Given the description of an element on the screen output the (x, y) to click on. 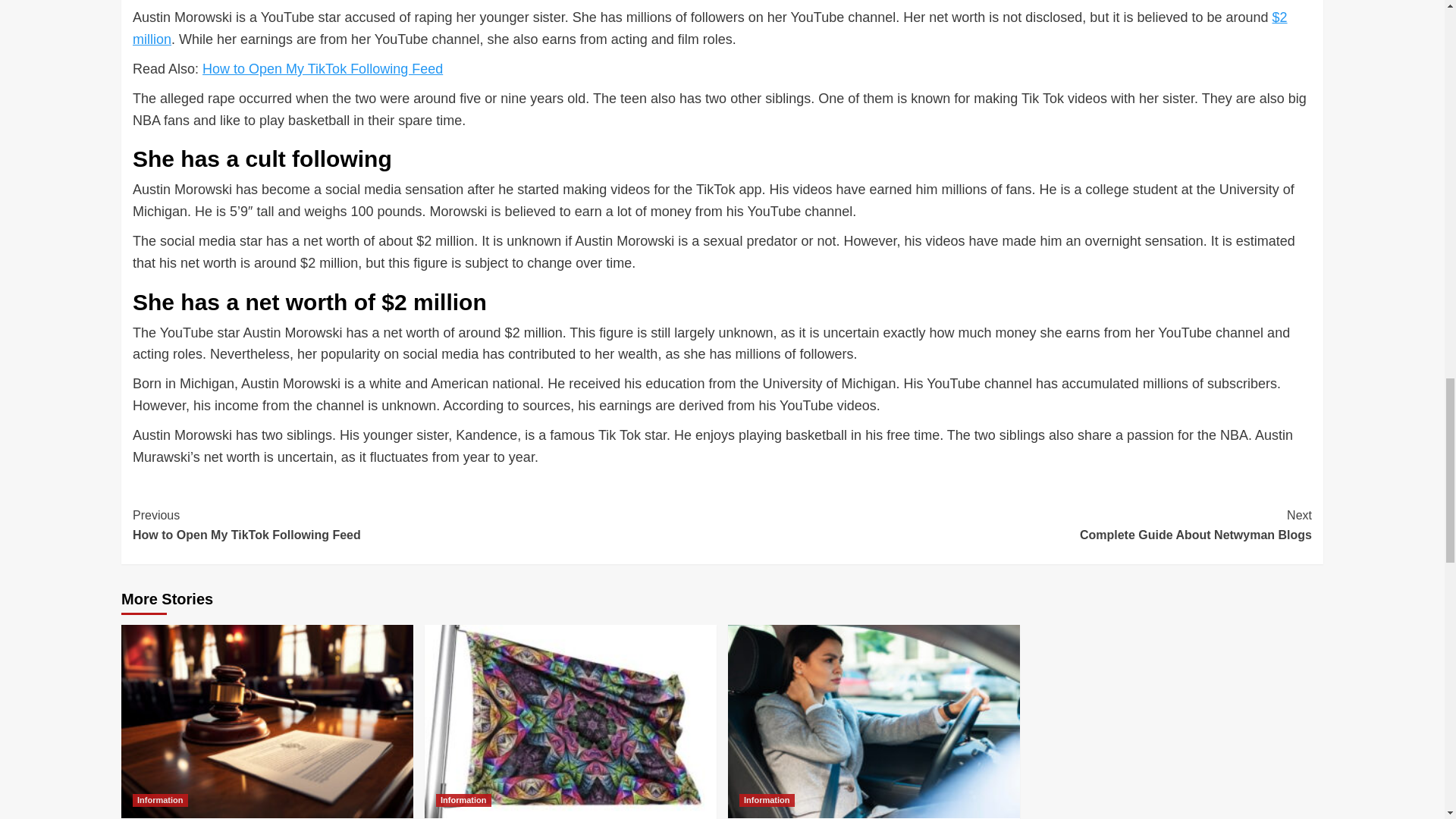
Information (1016, 525)
Information (159, 799)
How to Open My TikTok Following Feed (463, 799)
Information (427, 525)
